Given the description of an element on the screen output the (x, y) to click on. 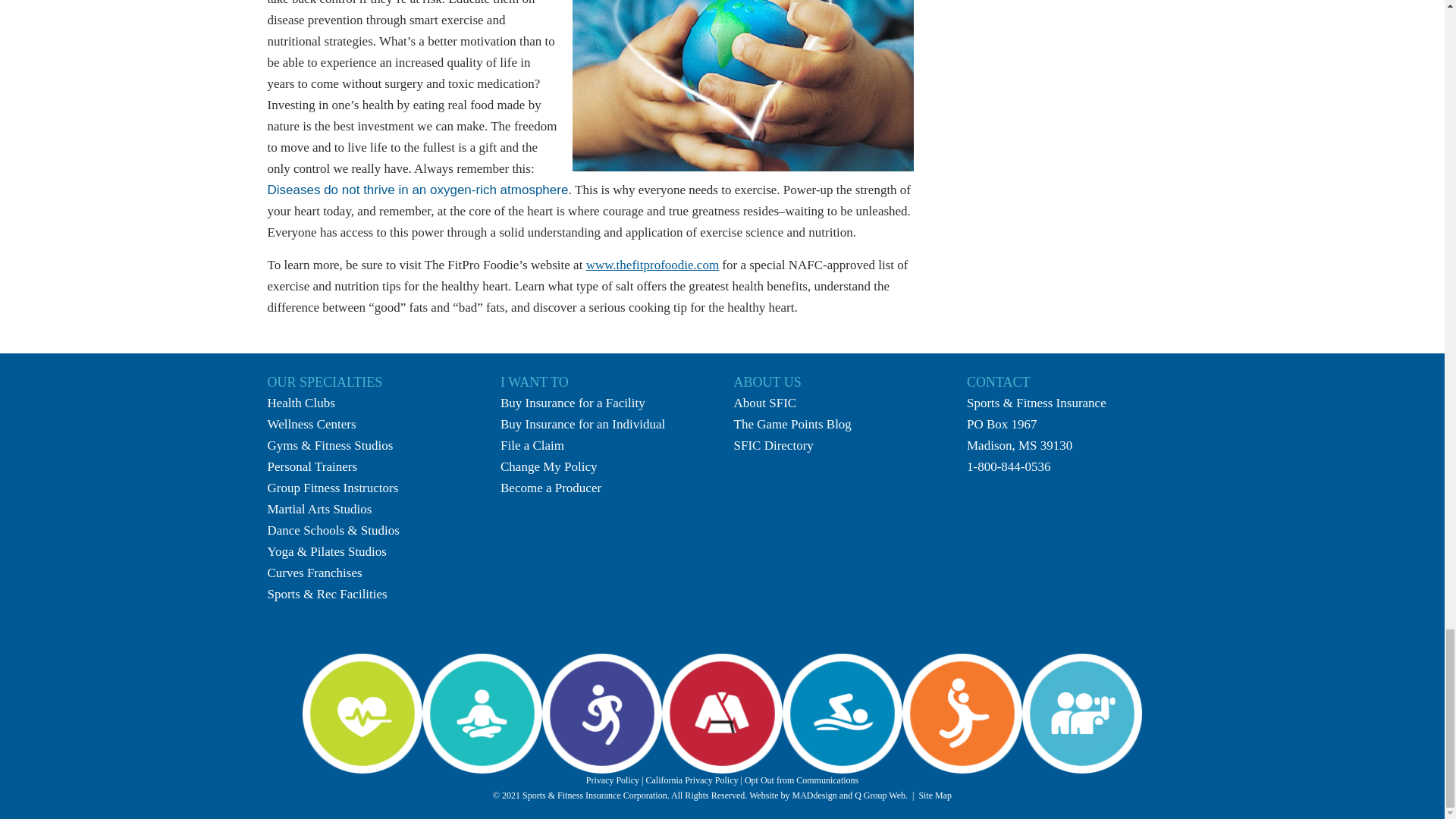
Visit www.thefitprofoodie.com (652, 264)
